Given the description of an element on the screen output the (x, y) to click on. 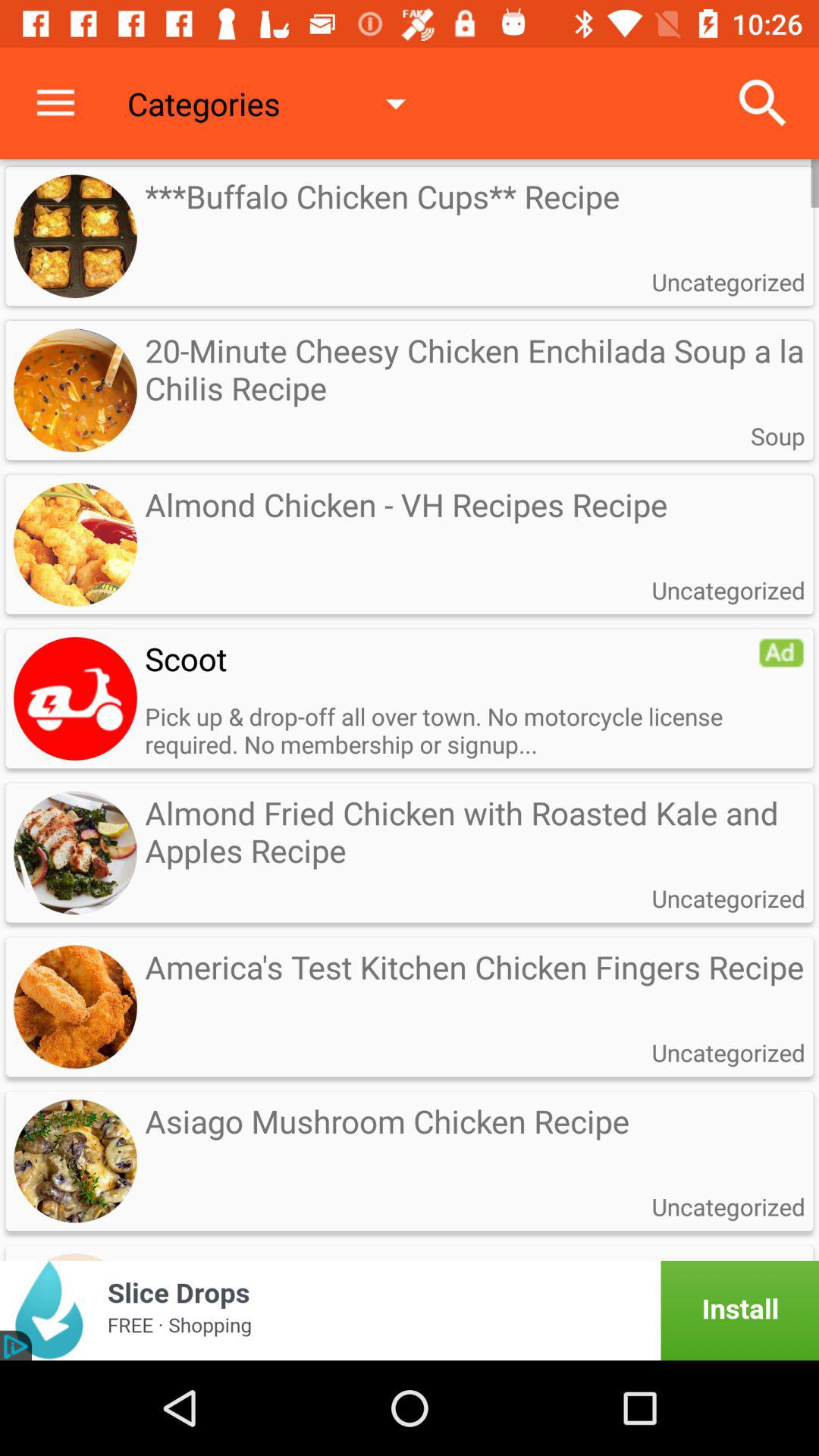
advertisement portion (409, 1310)
